Given the description of an element on the screen output the (x, y) to click on. 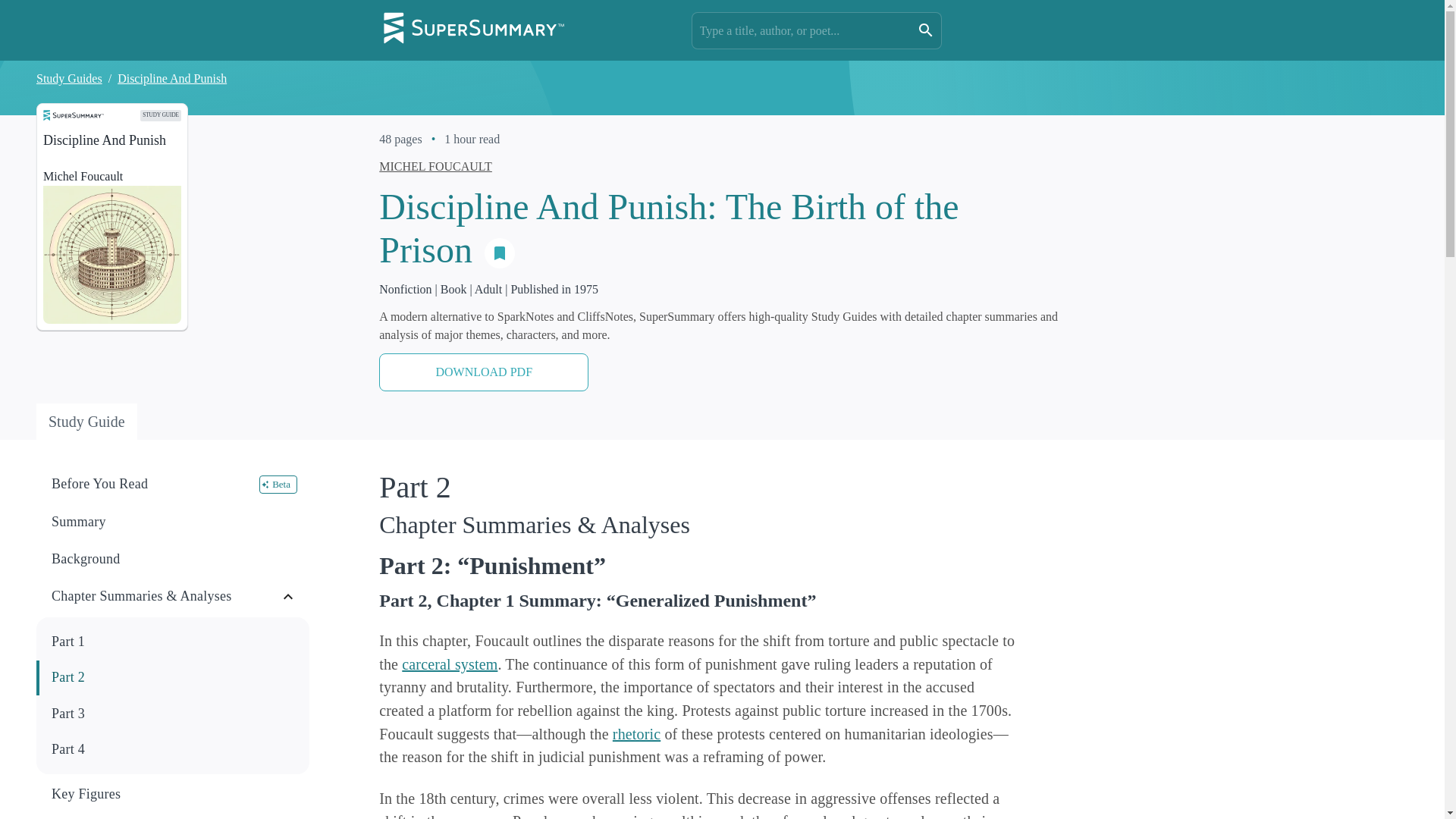
Part 2 (173, 677)
Search (925, 30)
Add to Saved Guides (499, 253)
Go to homepage (472, 29)
Key Figures (173, 794)
MICHEL FOUCAULT (435, 165)
Before You Read (154, 483)
Part 4 (173, 749)
Part 4 (172, 749)
Summary (172, 521)
